Given the description of an element on the screen output the (x, y) to click on. 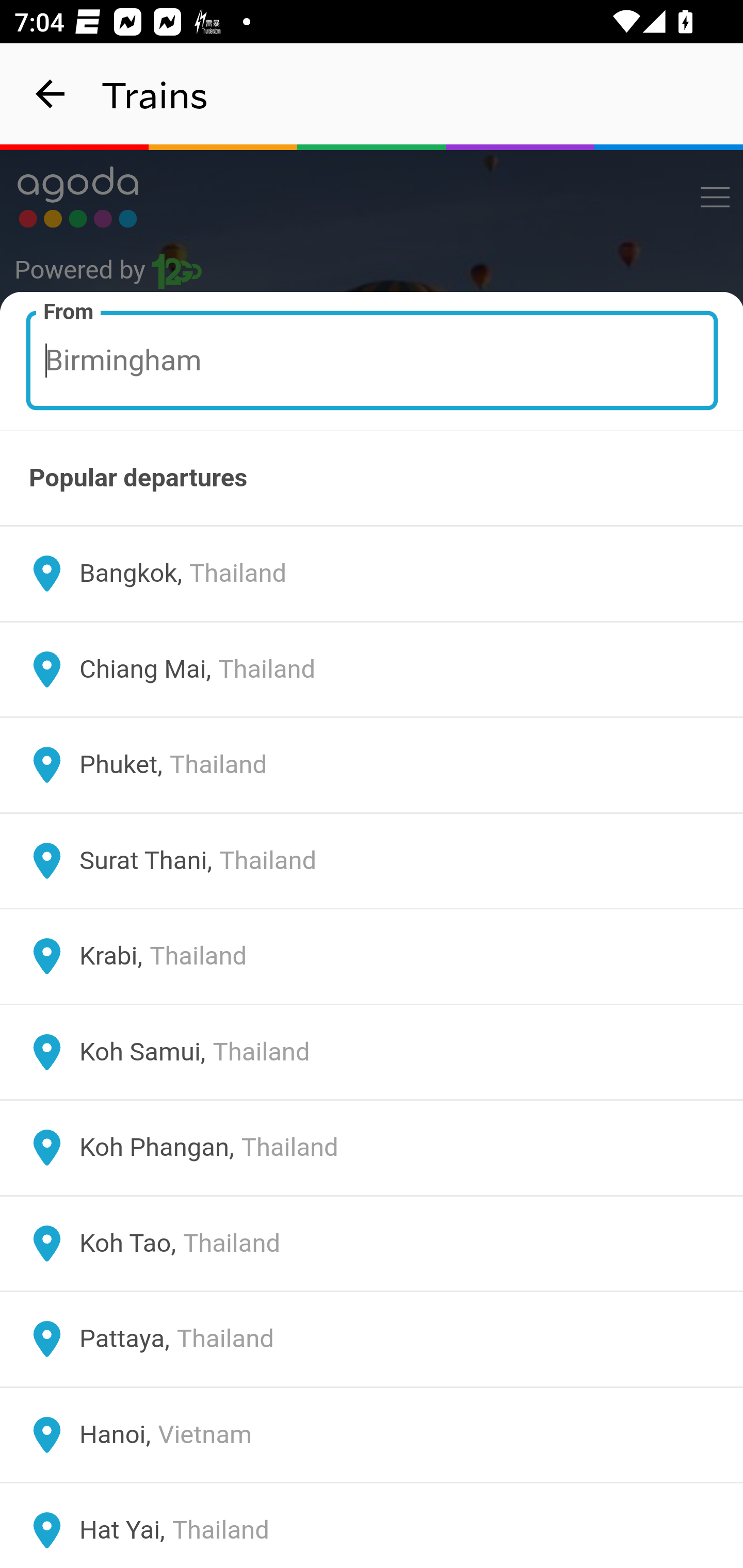
navigation_button (50, 93)
Popular departures (371, 477)
Bangkok,Thailand (371, 573)
Chiang Mai,Thailand (371, 669)
Phuket,Thailand (371, 764)
Surat Thani,Thailand (371, 860)
Krabi,Thailand (371, 956)
Koh Samui,Thailand (371, 1051)
Koh Phangan,Thailand (371, 1147)
Koh Tao,Thailand (371, 1243)
Pattaya,Thailand (371, 1339)
Hanoi,Vietnam (371, 1434)
Hat Yai,Thailand (371, 1524)
